Given the description of an element on the screen output the (x, y) to click on. 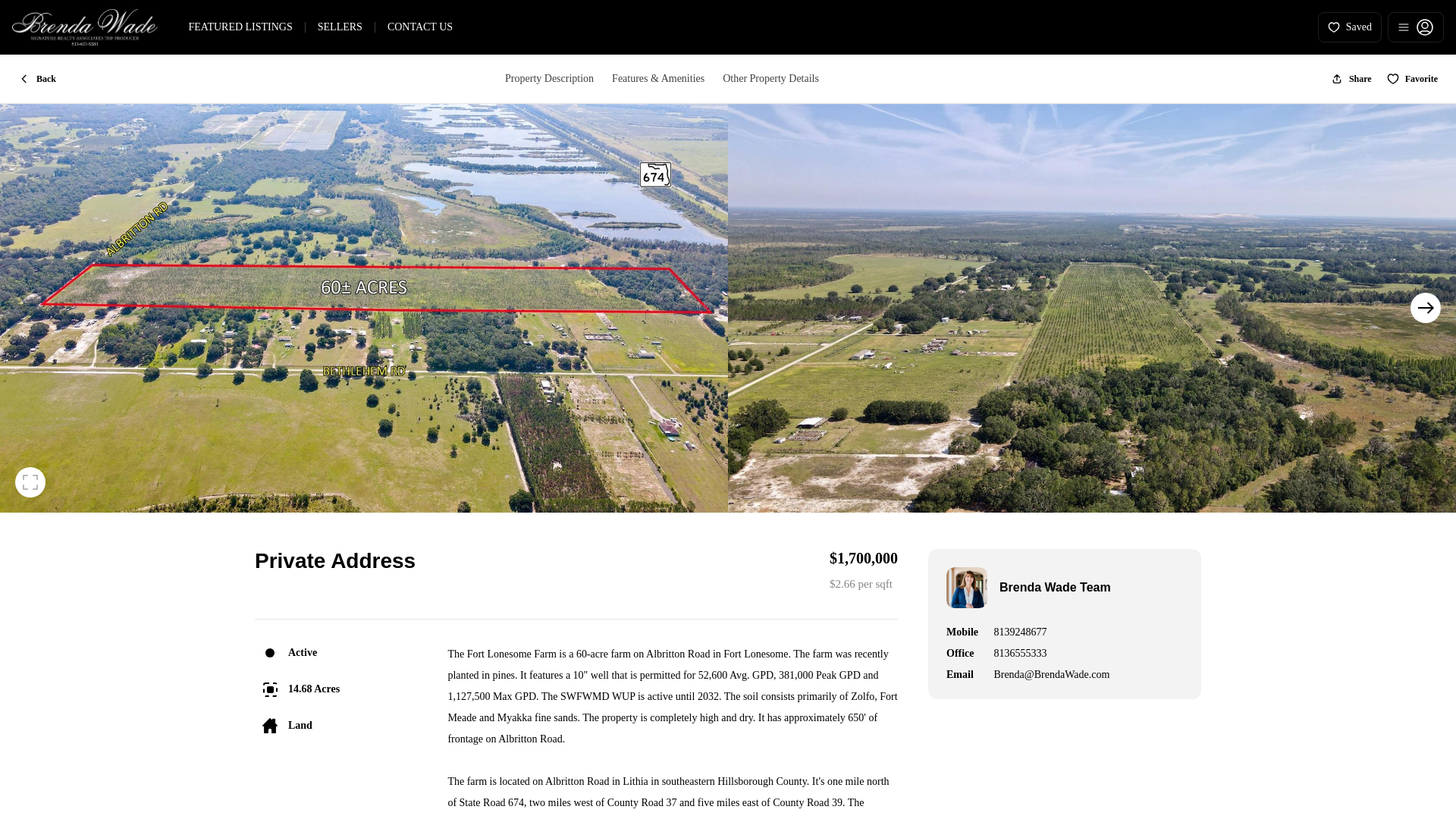
CONTACT US (419, 26)
Saved (1349, 27)
Share (1350, 78)
SELLERS (339, 26)
Go to: Homepage (84, 27)
Favorite (1412, 78)
Back (36, 78)
Other Property Details (770, 78)
FEATURED LISTINGS (240, 26)
Property Description (549, 78)
